Given the description of an element on the screen output the (x, y) to click on. 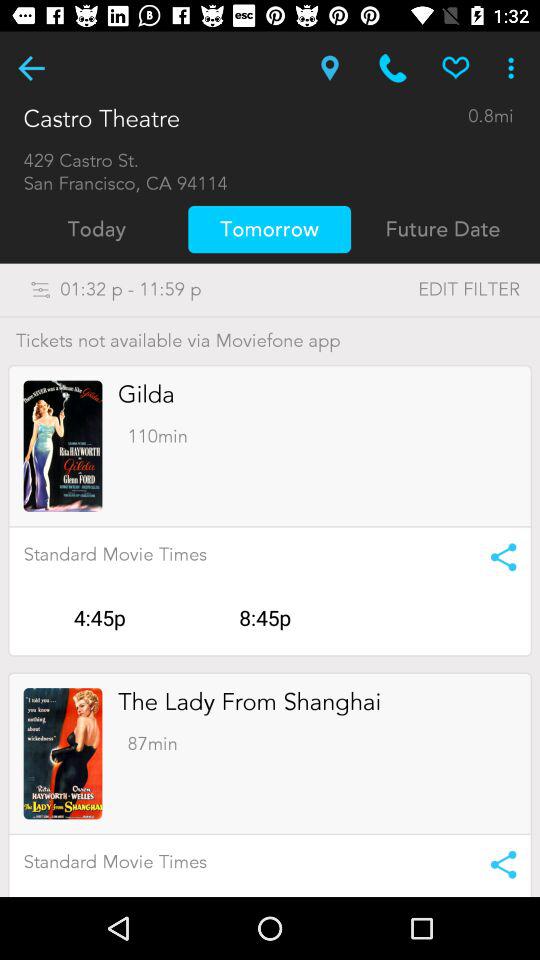
movie photo (62, 753)
